Given the description of an element on the screen output the (x, y) to click on. 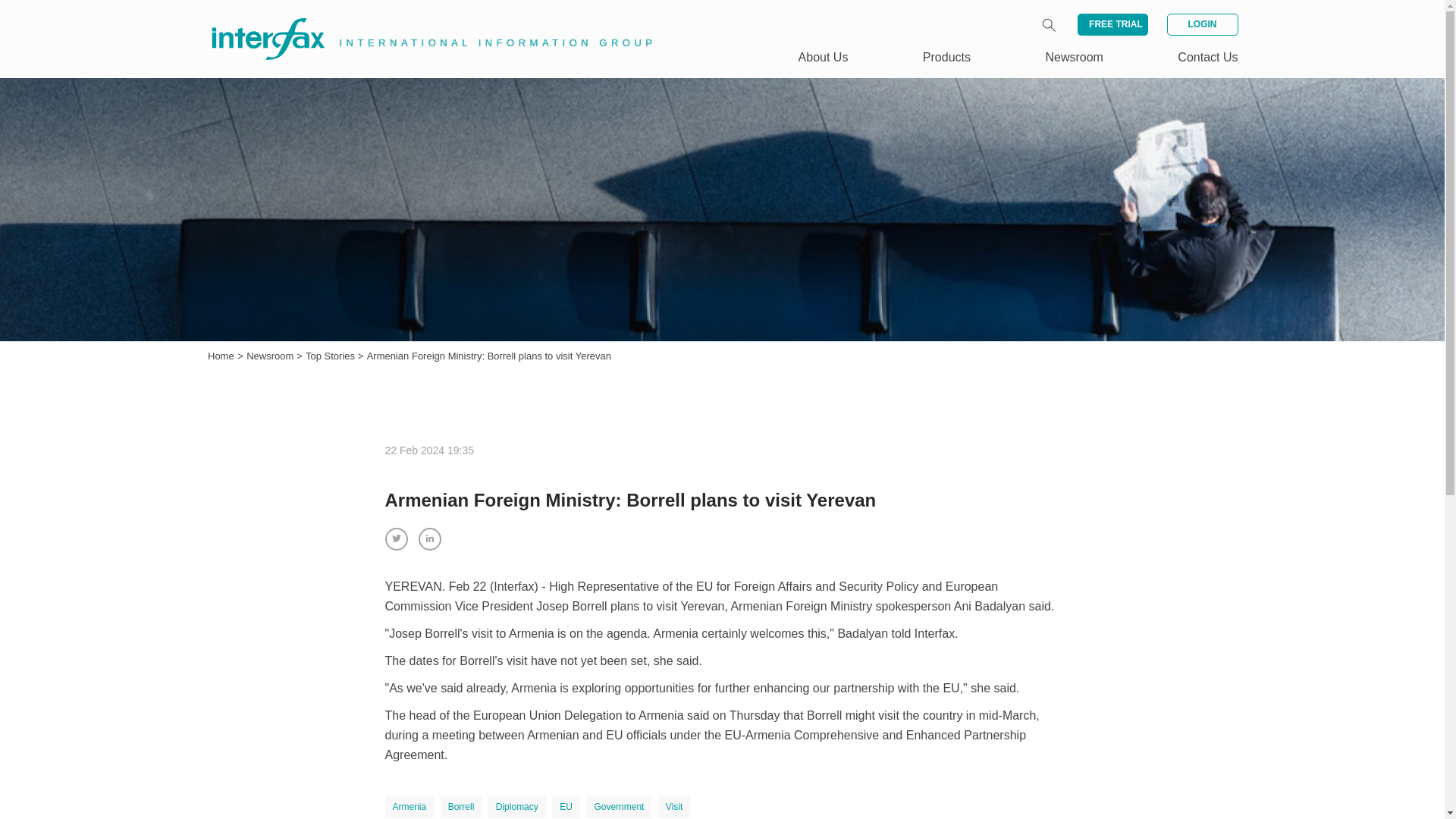
Top Stories (331, 355)
Home (221, 355)
Borrell (461, 806)
Newsroom (1073, 56)
Newsroom (271, 355)
Contact Us (1207, 56)
Armenia (409, 806)
INTERNATIONAL INFORMATION GROUP (421, 20)
Products (947, 56)
EU (565, 806)
